Given the description of an element on the screen output the (x, y) to click on. 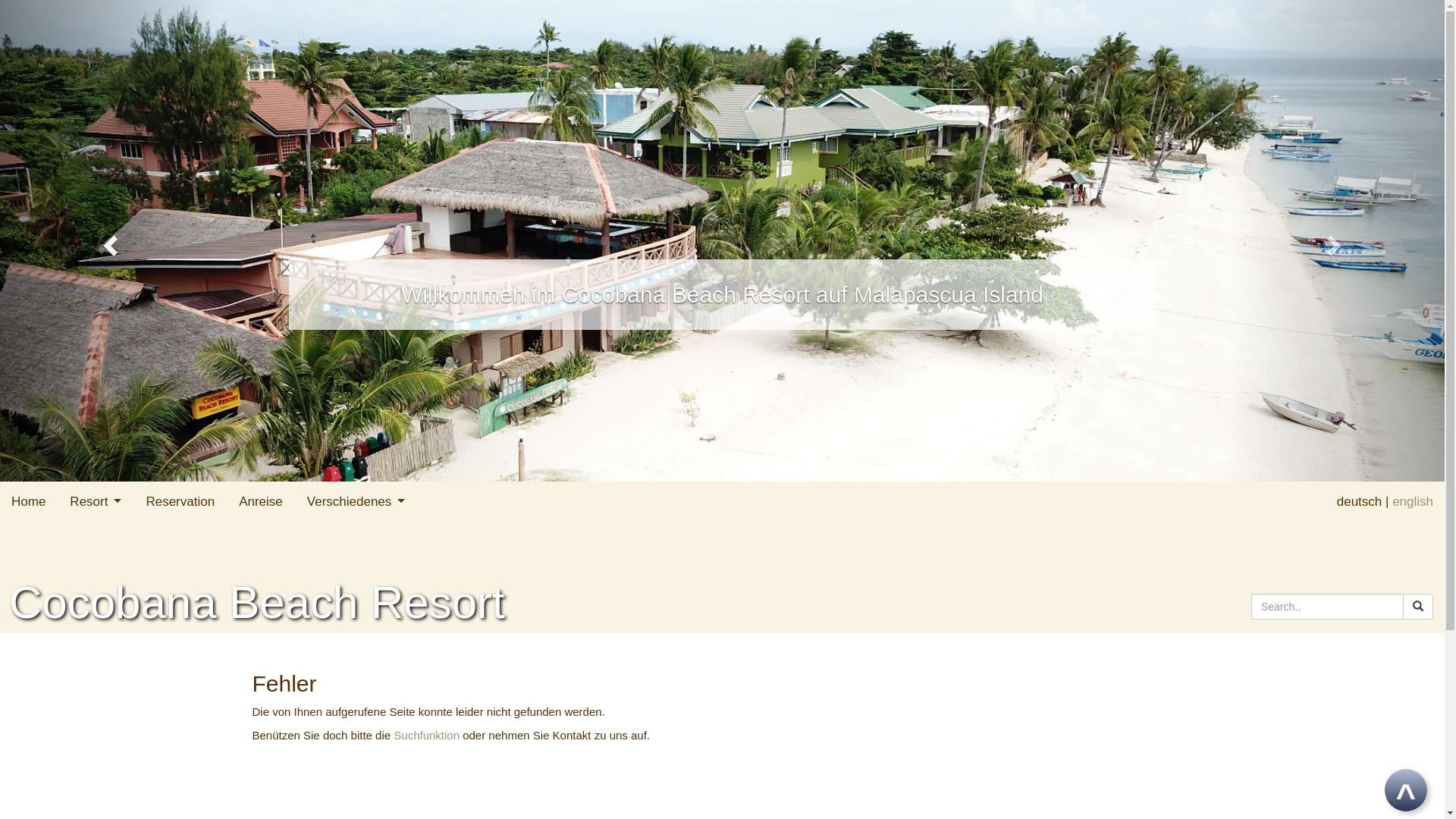
Suchfunktion Element type: text (426, 734)
Reservation Element type: text (179, 501)
Cocobana Beach Resort Element type: text (257, 599)
Previous Element type: text (108, 240)
Resort Element type: text (95, 501)
Home Element type: text (28, 501)
Anreise Element type: text (260, 501)
Verschiedenes Element type: text (356, 501)
Next Element type: text (1335, 240)
english Element type: text (1412, 501)
^ Element type: text (1405, 789)
